Given the description of an element on the screen output the (x, y) to click on. 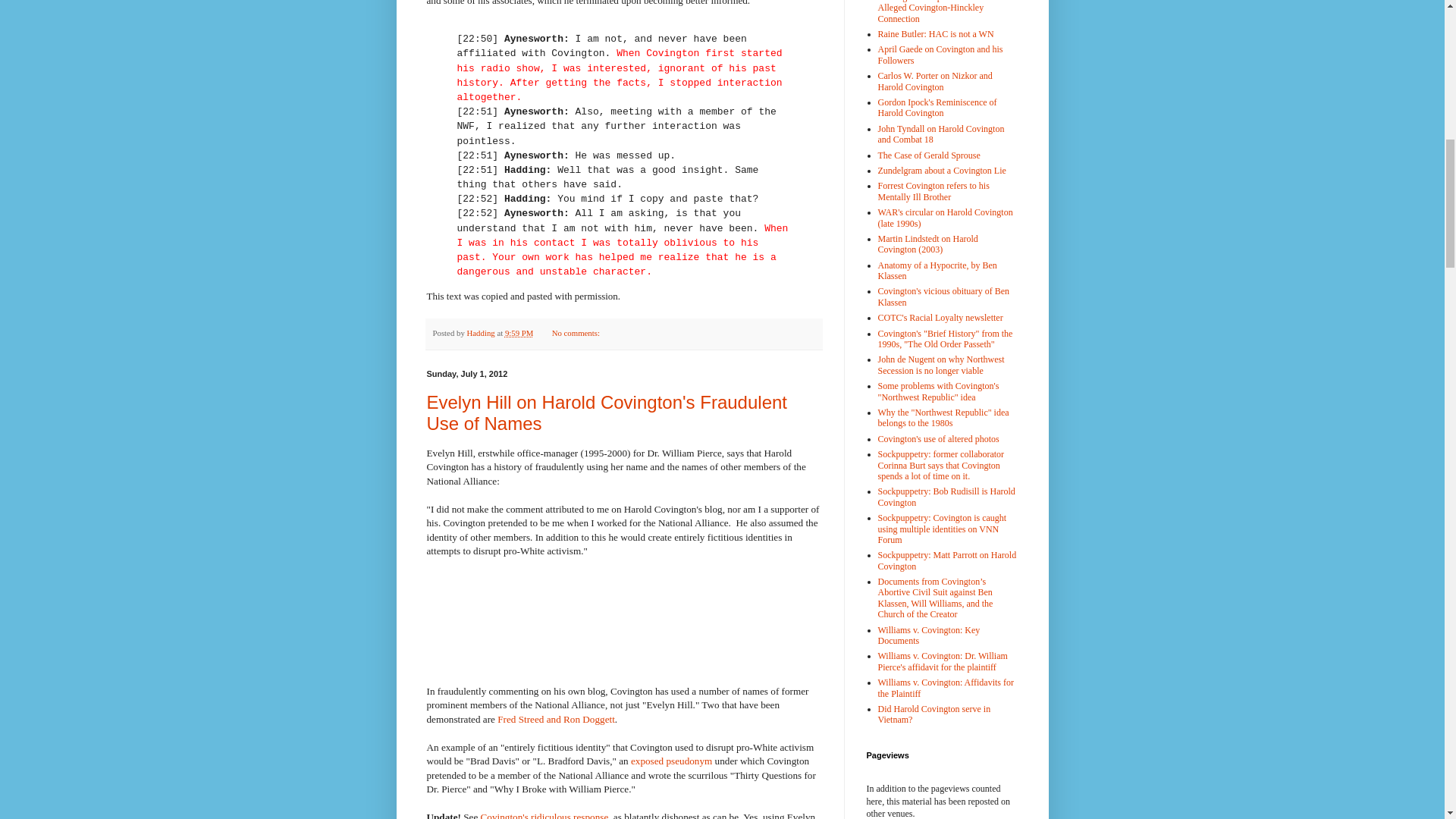
Share to Facebook (676, 333)
BlogThis! (647, 333)
Share to Facebook (676, 333)
BlogThis! (647, 333)
permanent link (519, 332)
Email This (633, 333)
Share to Pinterest (690, 333)
author profile (482, 332)
Email This (633, 333)
No comments: (576, 332)
